Given the description of an element on the screen output the (x, y) to click on. 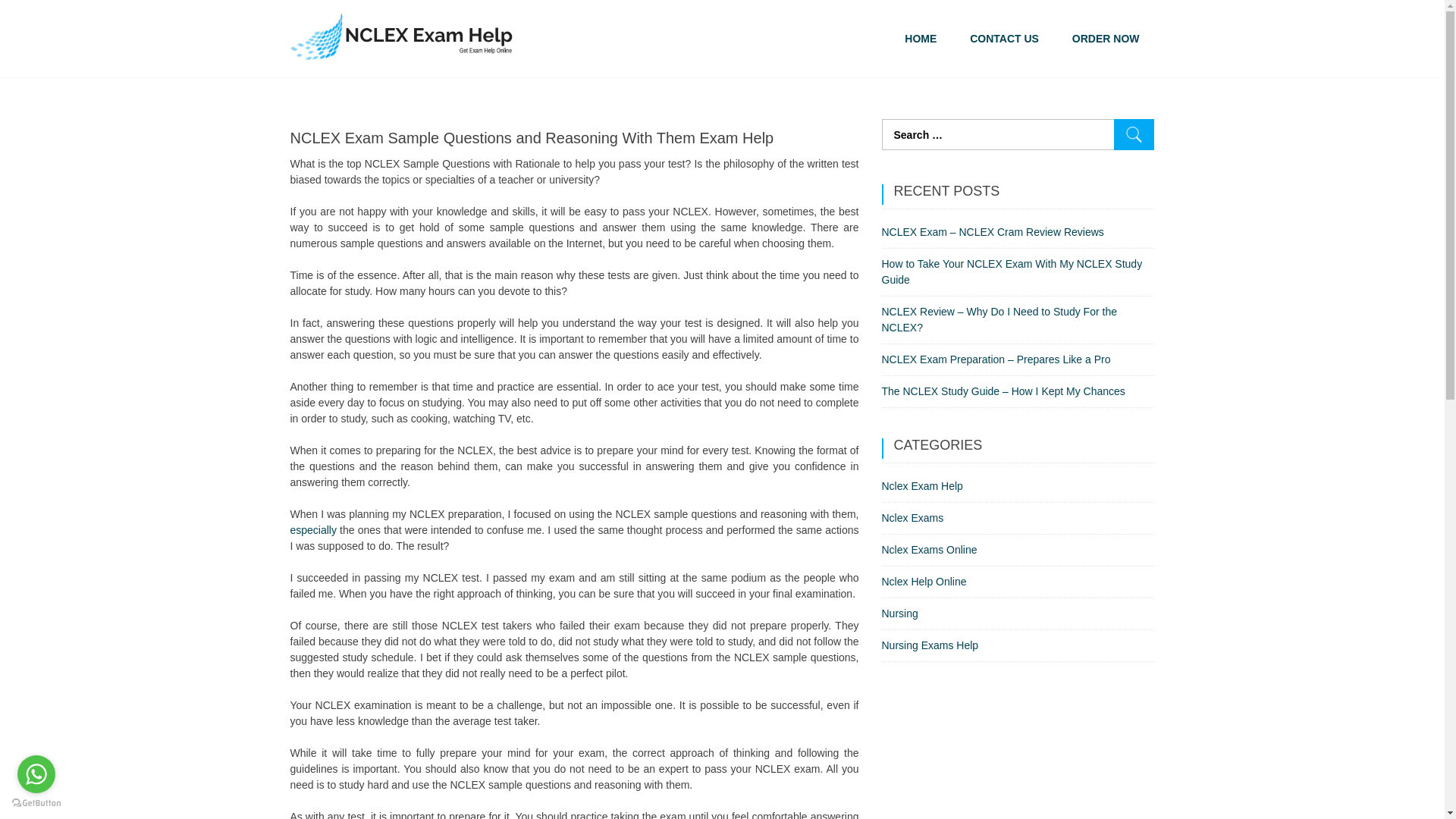
Nclex Help Online (923, 581)
Search (1133, 133)
ORDER NOW (1105, 38)
especially (312, 530)
Nclex Exams (911, 517)
HOME (920, 38)
How to Take Your NCLEX Exam With My NCLEX Study Guide (1010, 271)
Nclex Exam Help (921, 485)
Nclex Exams Online (928, 549)
Nursing Exams Help (929, 645)
Search (1133, 133)
CONTACT US (1004, 38)
Nursing (898, 613)
Search (1133, 133)
